Given the description of an element on the screen output the (x, y) to click on. 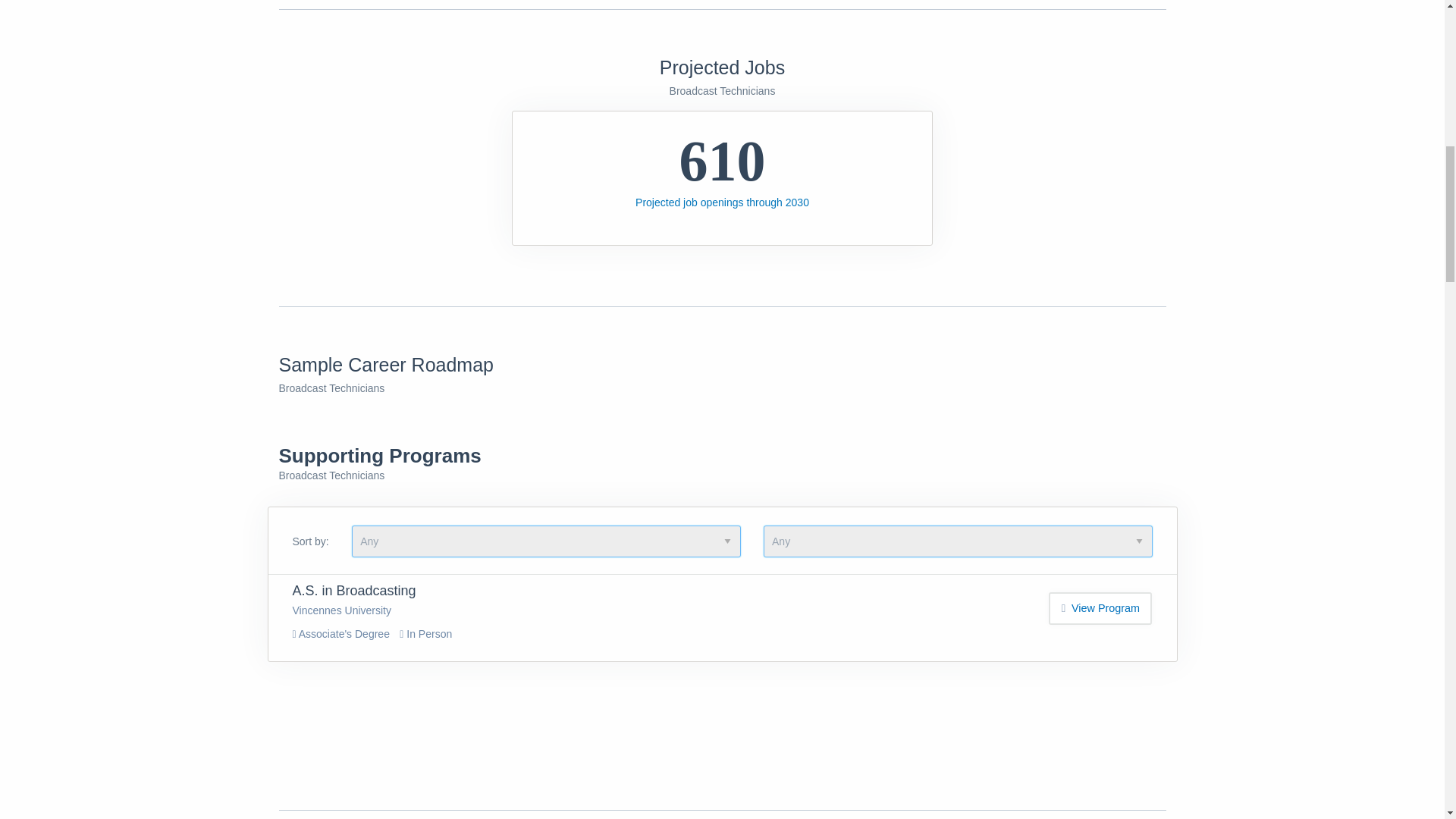
  View Program (1099, 608)
A.S. in Broadcasting (354, 590)
